Given the description of an element on the screen output the (x, y) to click on. 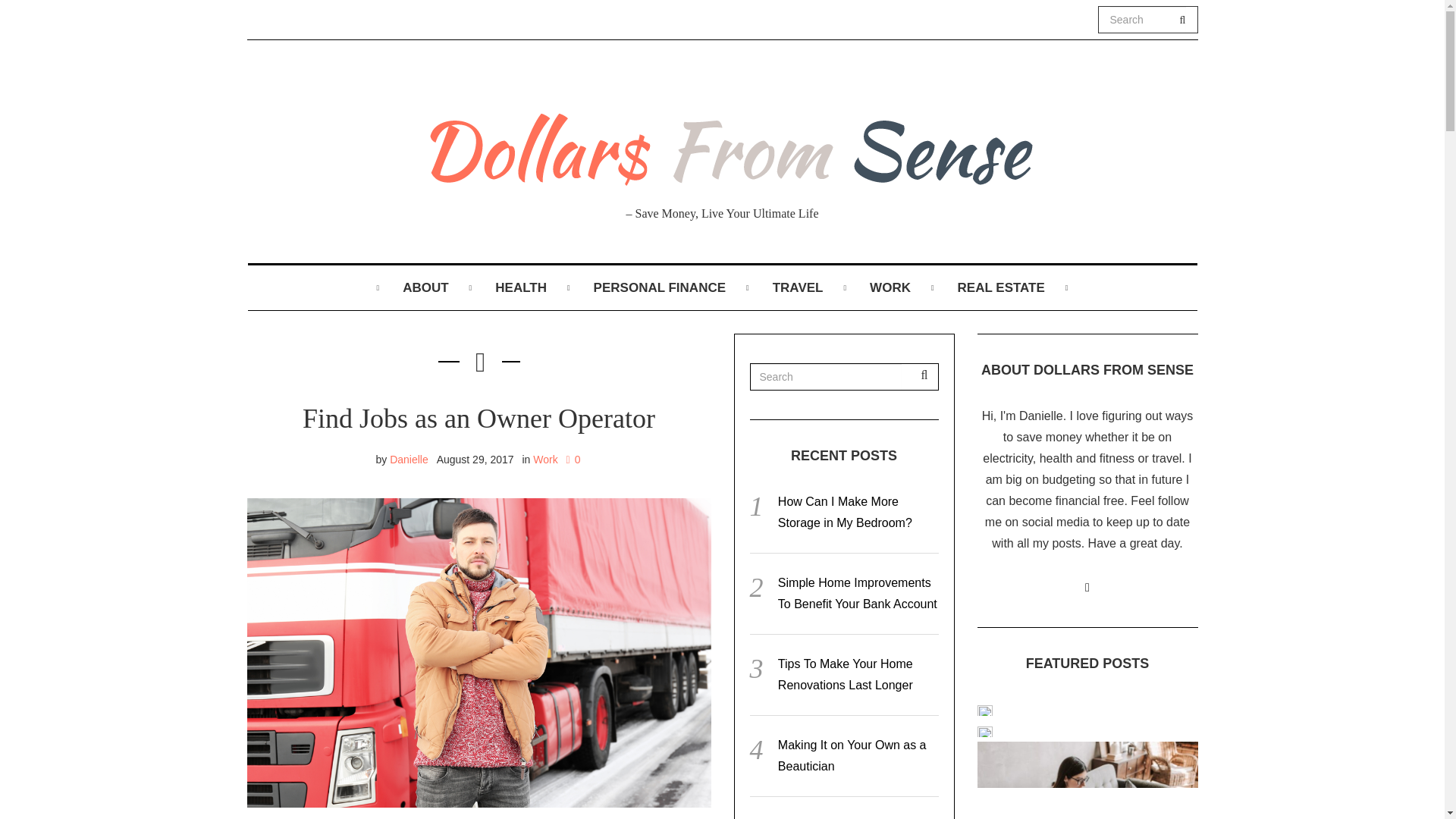
Work (544, 459)
Dollars From Sense (721, 144)
Like this (573, 459)
Danielle (409, 459)
0 (573, 459)
